Given the description of an element on the screen output the (x, y) to click on. 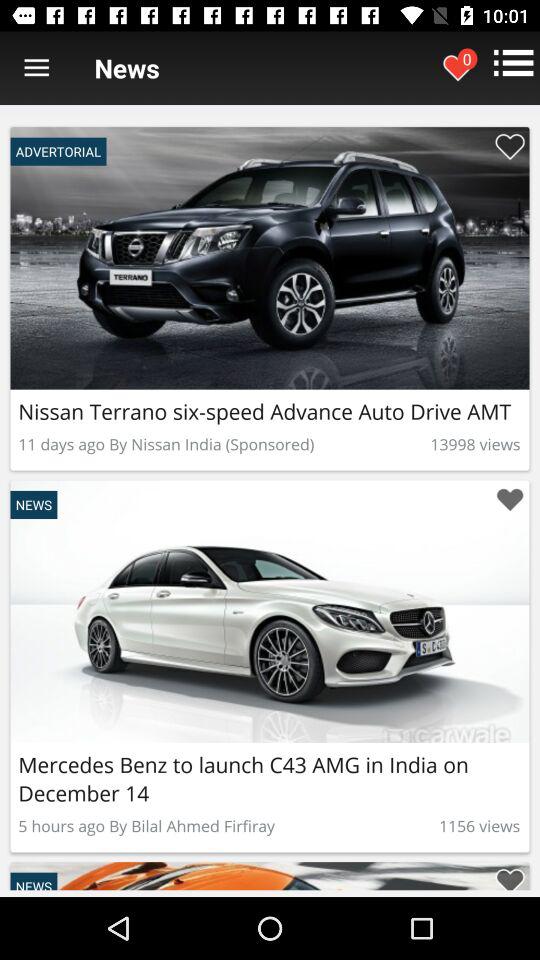
mercedes benz to launch c43 amg in india on december 14 (509, 499)
